Given the description of an element on the screen output the (x, y) to click on. 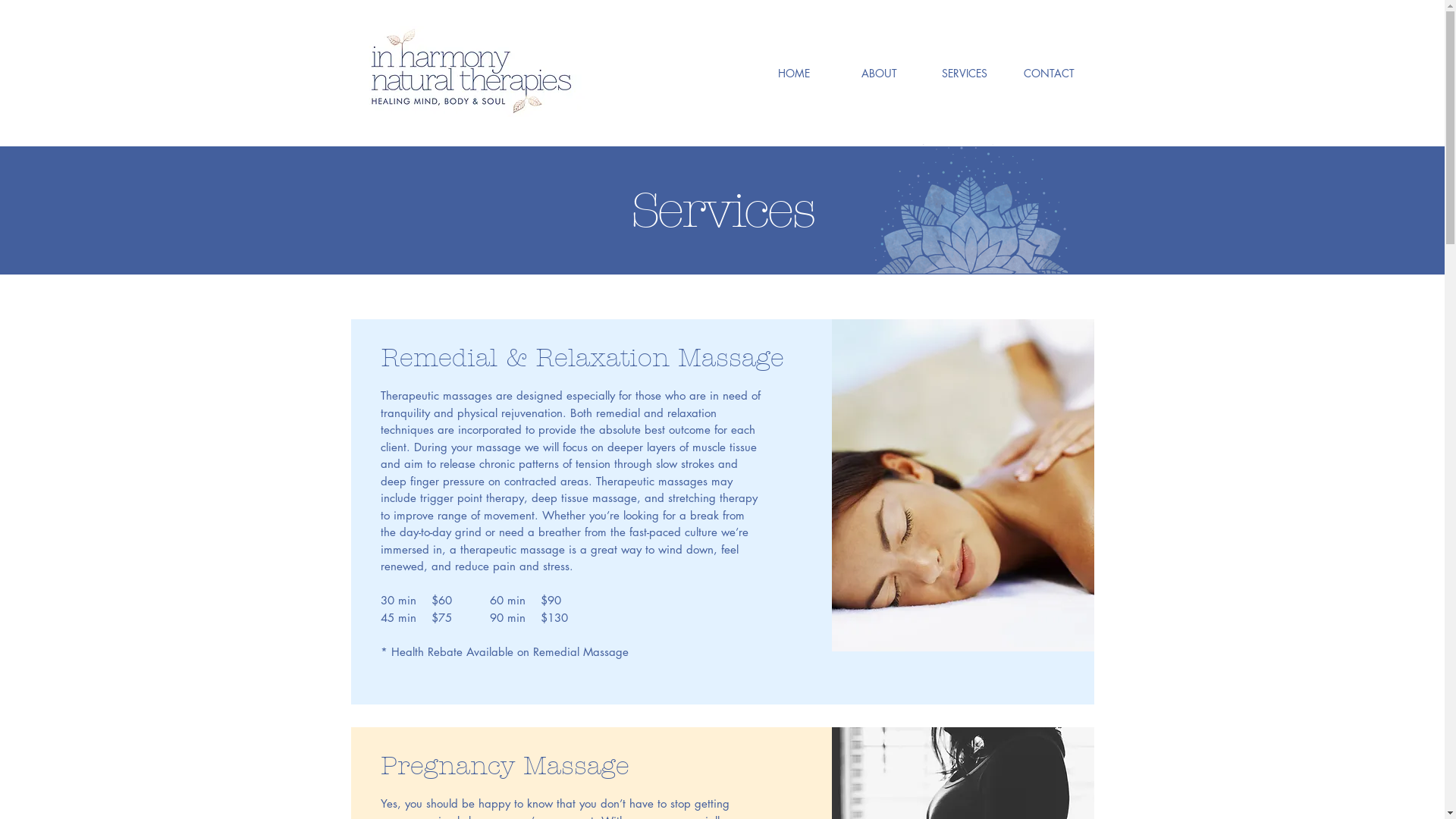
ABOUT Element type: text (879, 72)
CONTACT Element type: text (1049, 72)
SERVICES Element type: text (964, 72)
HOME Element type: text (793, 72)
